Given the description of an element on the screen output the (x, y) to click on. 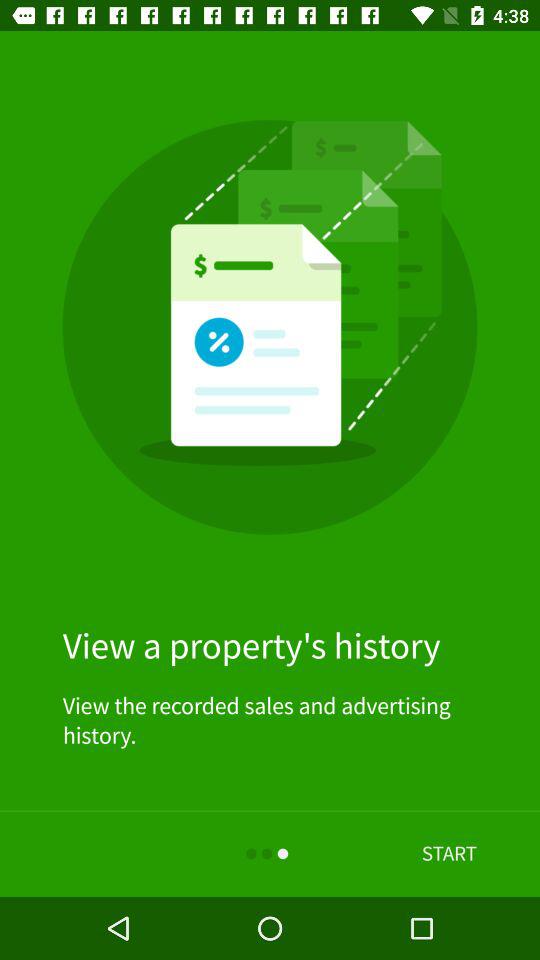
flip to start item (449, 853)
